Given the description of an element on the screen output the (x, y) to click on. 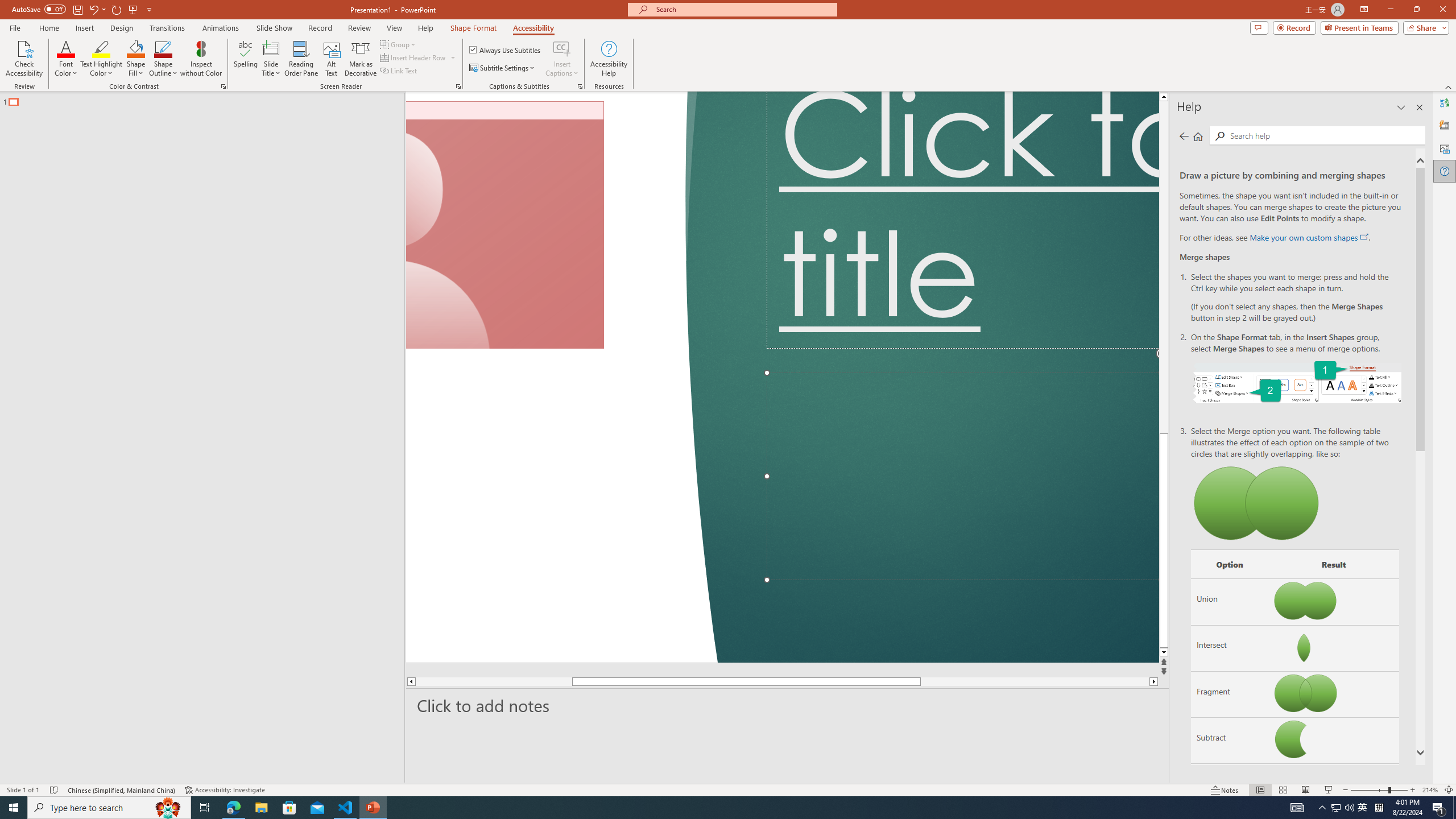
Fragment (1229, 693)
Zoom 214% (1430, 790)
Union (1229, 601)
